Given the description of an element on the screen output the (x, y) to click on. 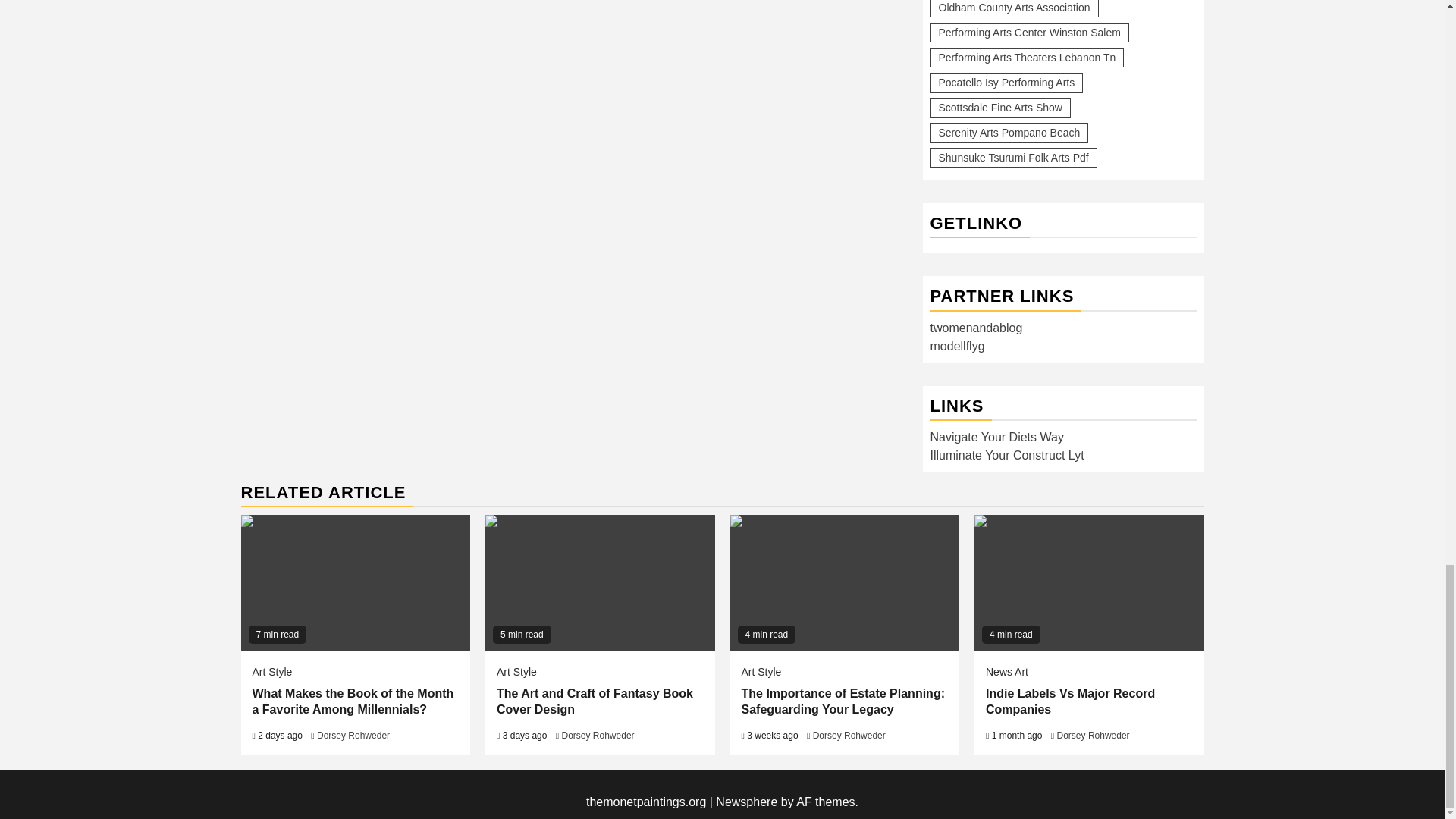
The Art and Craft of Fantasy Book Cover Design (599, 583)
The Importance of Estate Planning: Safeguarding Your Legacy (844, 583)
